Given the description of an element on the screen output the (x, y) to click on. 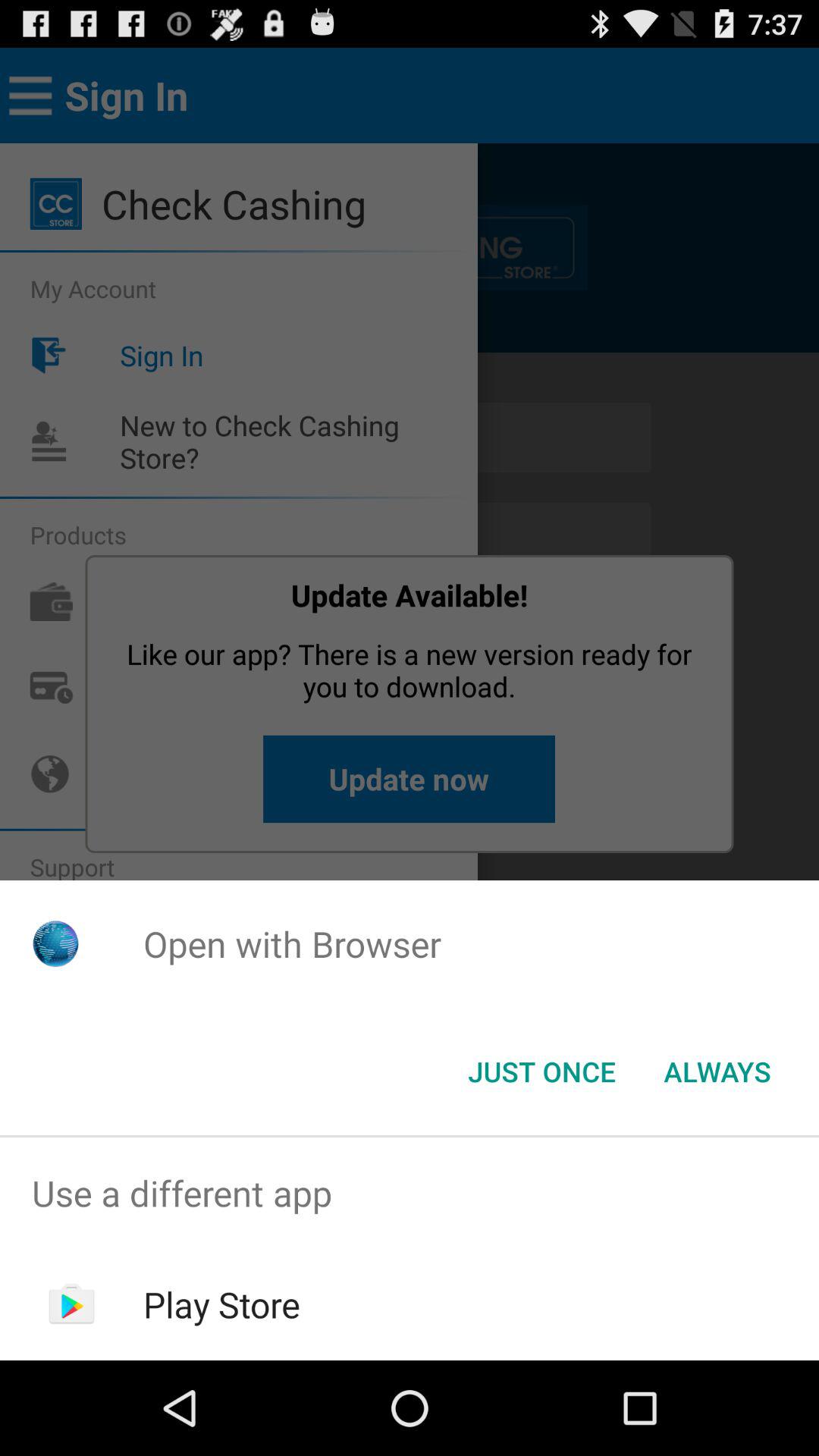
turn on button next to the just once icon (717, 1071)
